Given the description of an element on the screen output the (x, y) to click on. 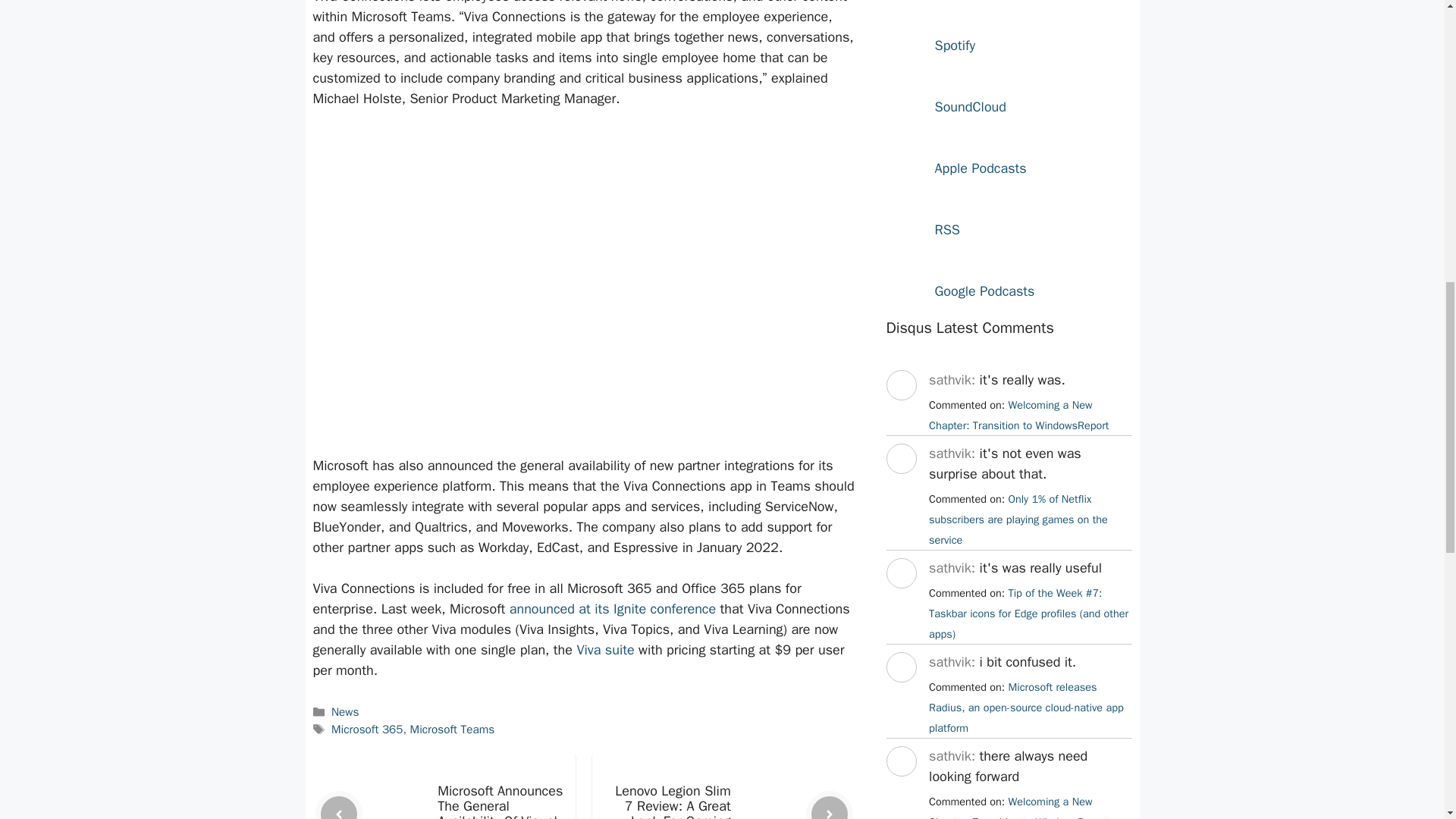
sathvik (900, 413)
sathvik (900, 487)
May 20, 2024 (1018, 806)
sathvik (900, 790)
July 8, 2024 (1028, 613)
June 15, 2024 (1026, 707)
July 24, 2024 (1018, 415)
sathvik (900, 695)
sathvik (900, 601)
July 11, 2024 (1018, 519)
